Given the description of an element on the screen output the (x, y) to click on. 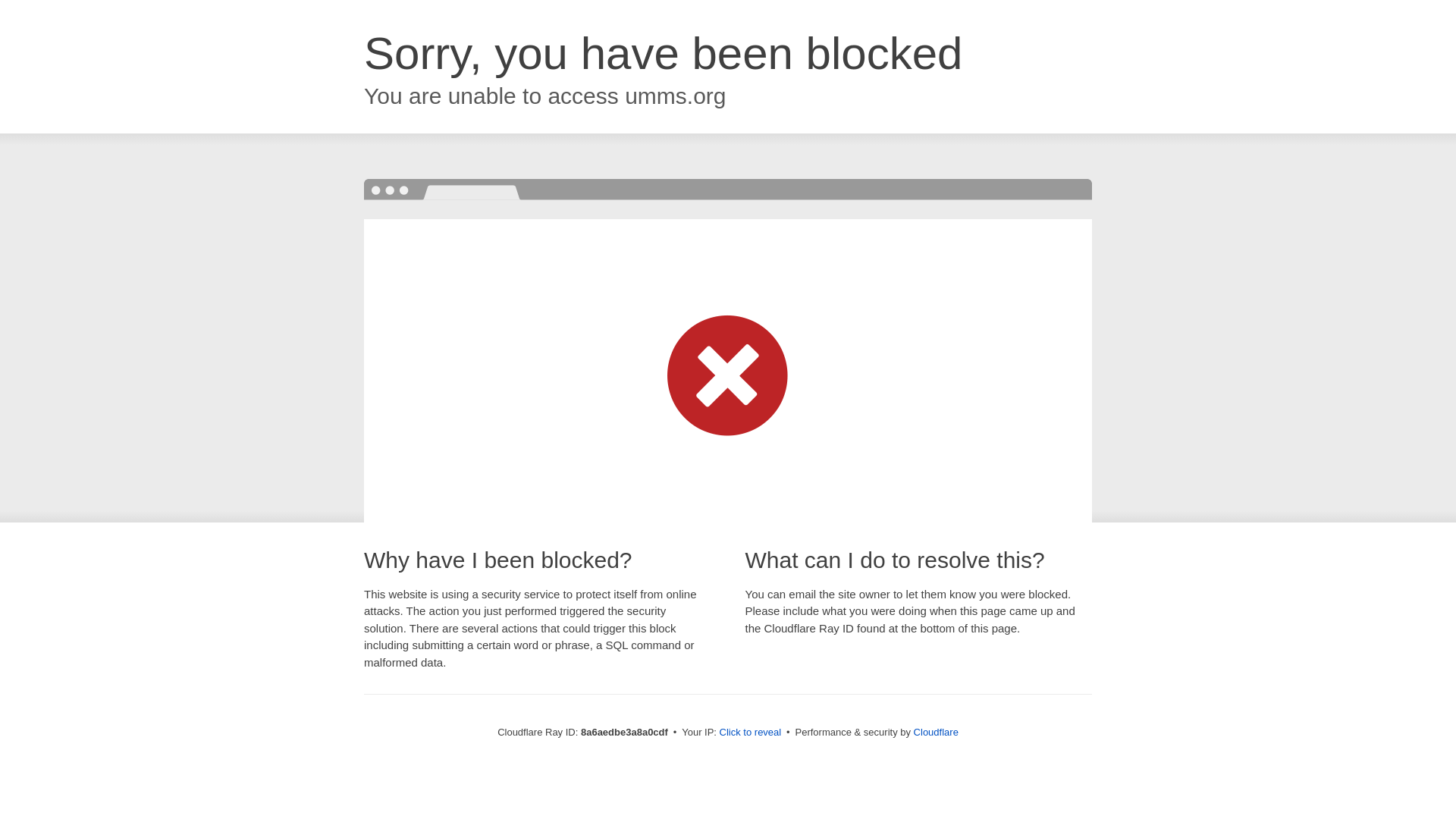
Cloudflare (936, 731)
Click to reveal (750, 732)
